Given the description of an element on the screen output the (x, y) to click on. 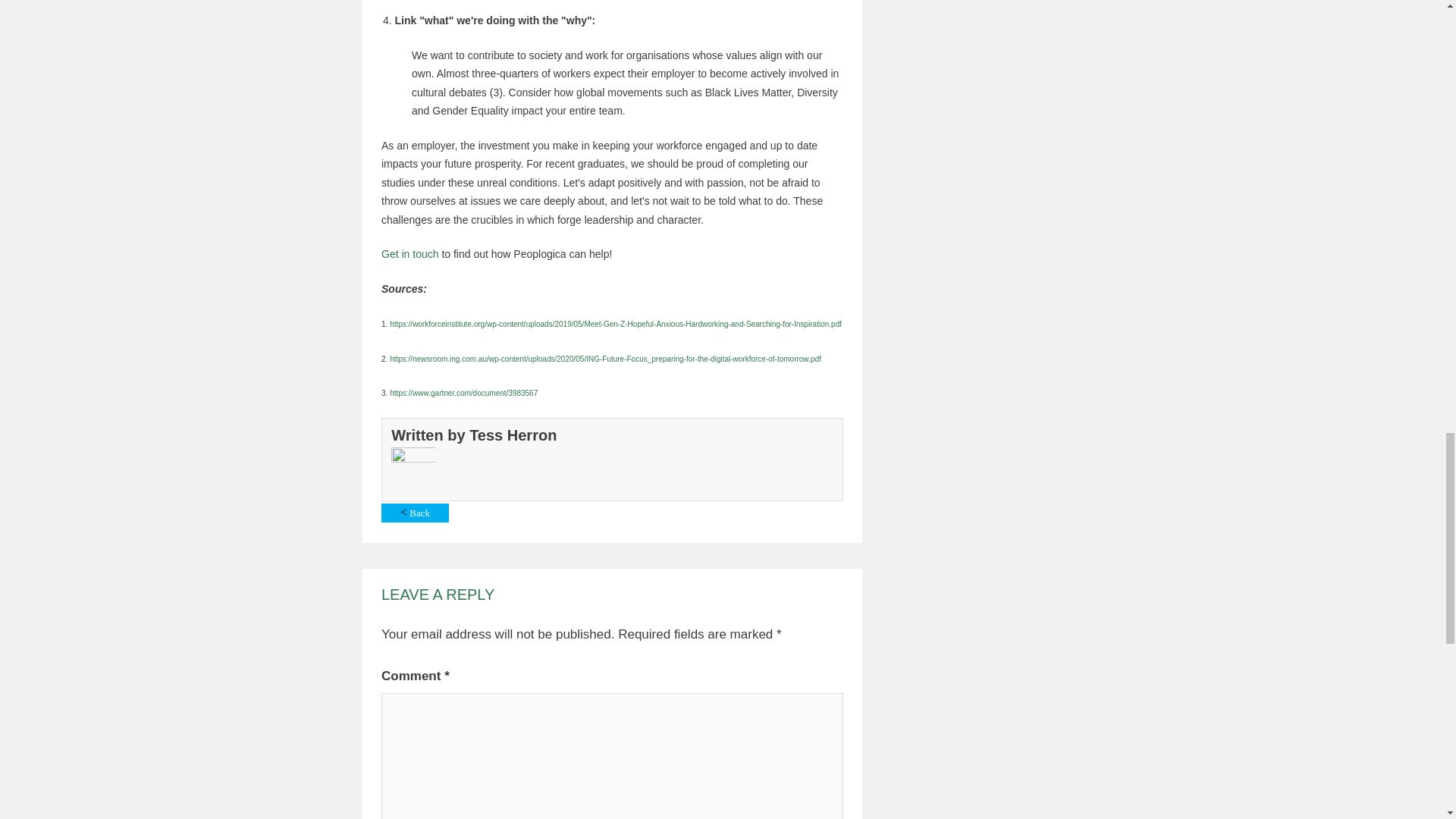
Get in touch (410, 254)
